Given the description of an element on the screen output the (x, y) to click on. 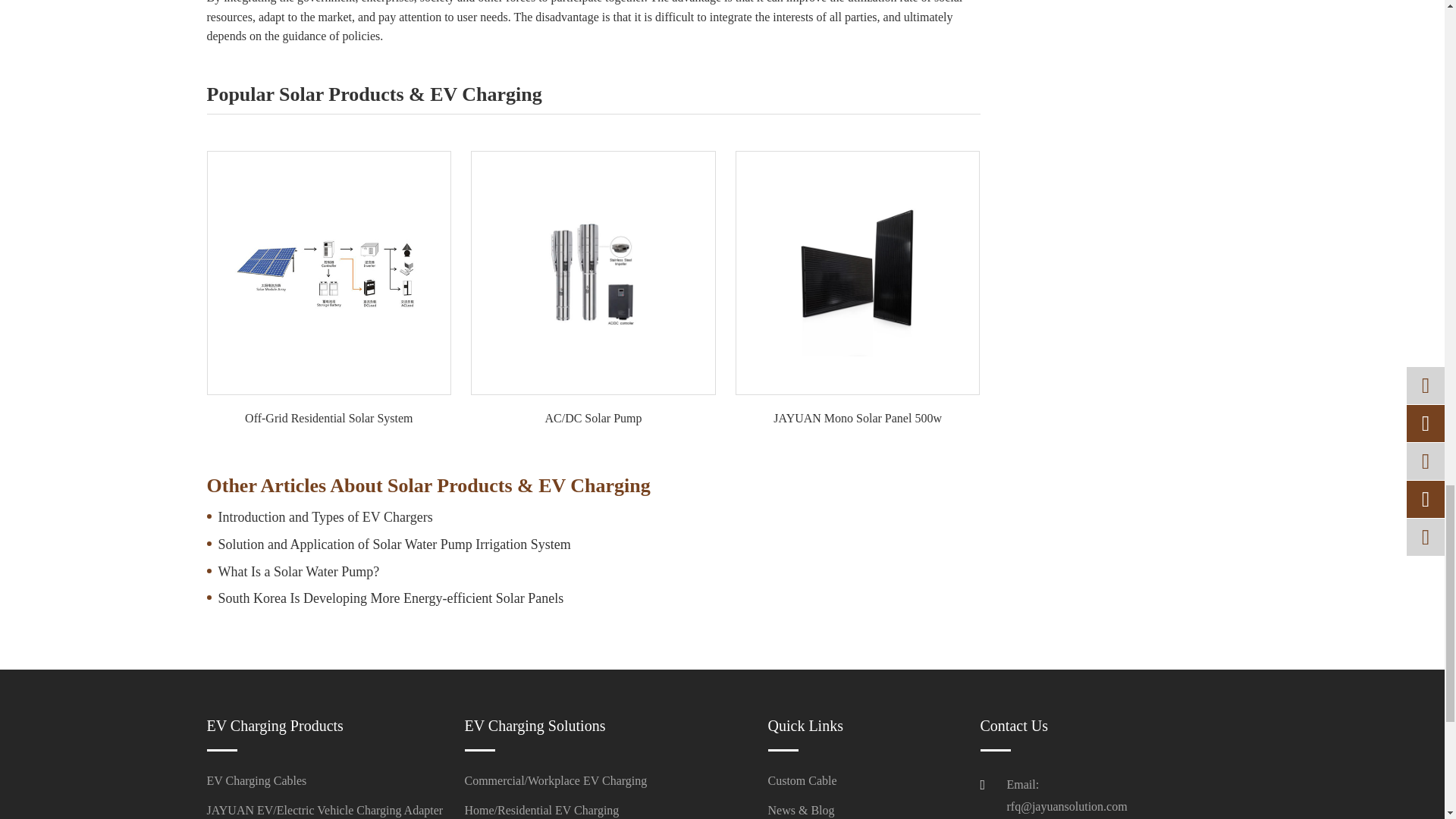
JAYUAN Mono Solar Panel 500w (857, 272)
Off-Grid Residential Solar System (328, 272)
